Given the description of an element on the screen output the (x, y) to click on. 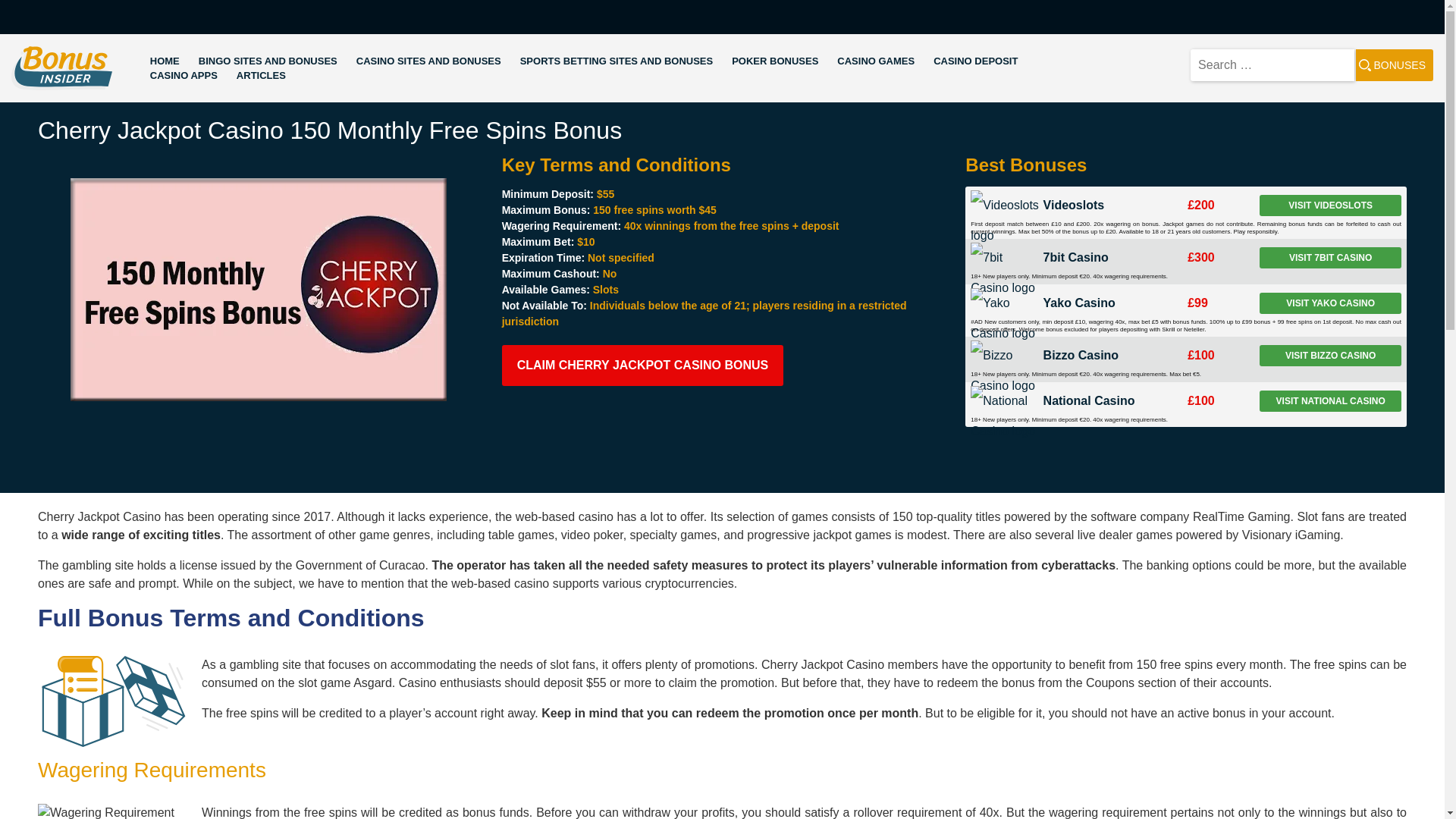
Bonuses (1393, 65)
SPORTS BETTING SITES AND BONUSES (616, 60)
CASINO DEPOSIT (975, 60)
CASINO SITES AND BONUSES (428, 60)
CASINO APPS (182, 75)
Bonuses (1393, 65)
POKER BONUSES (775, 60)
HOME (164, 60)
BINGO SITES AND BONUSES (267, 60)
CASINO GAMES (875, 60)
Bonus Insider (48, 98)
Bonuses (1393, 65)
